Given the description of an element on the screen output the (x, y) to click on. 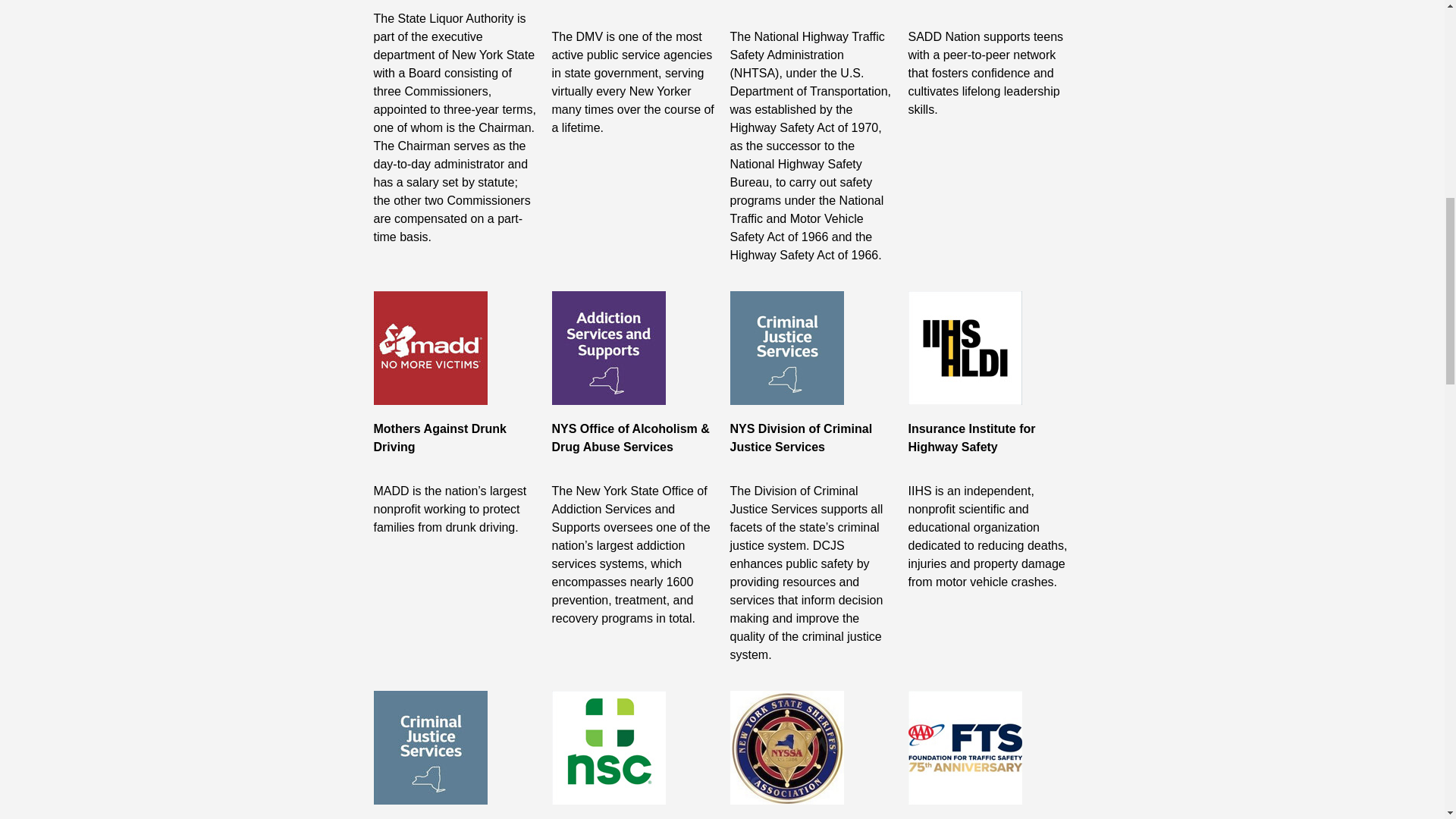
nsc-logo (608, 747)
iihs-logo (965, 347)
nyssherriffs-logo (786, 747)
aaa-fts-logo (965, 747)
nysdocjs-logo (786, 347)
